Given the description of an element on the screen output the (x, y) to click on. 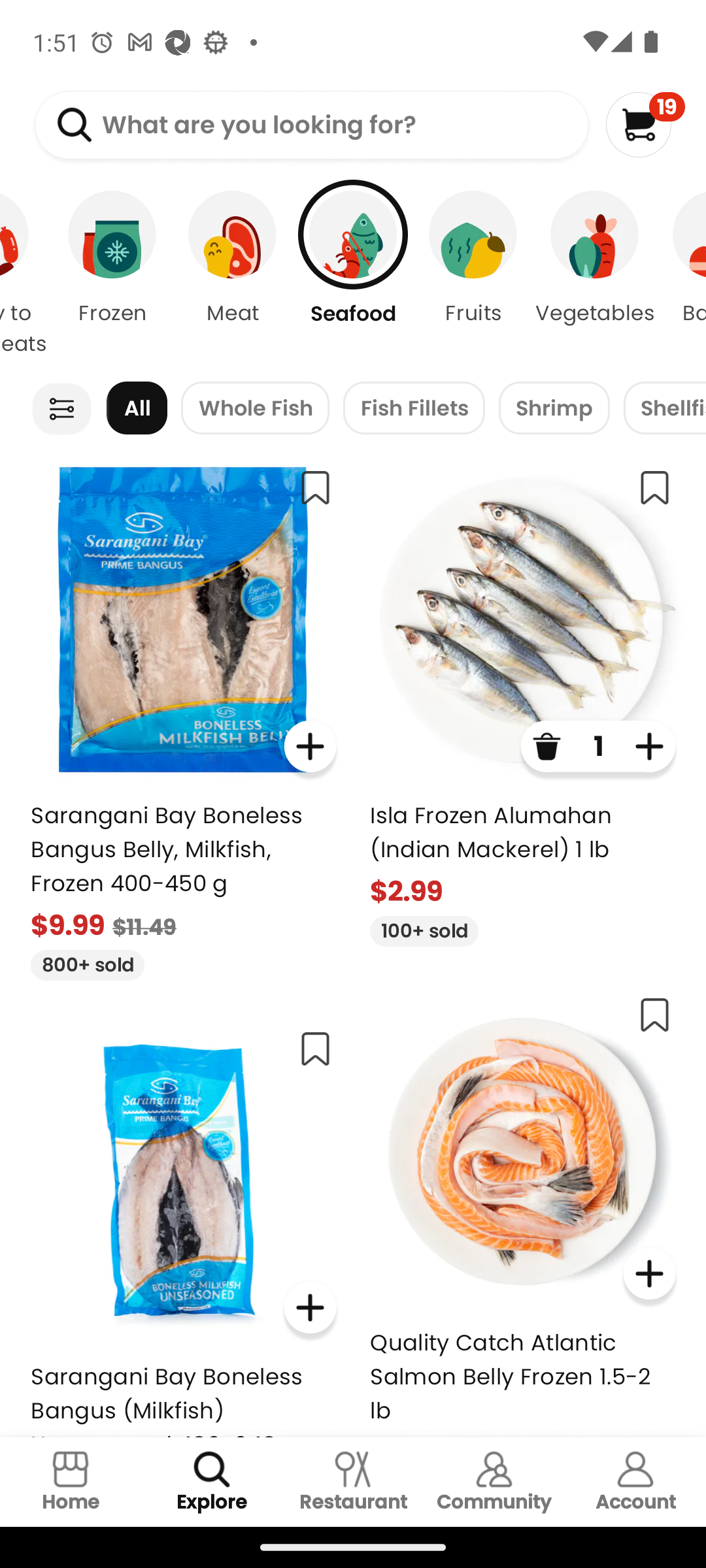
What are you looking for? (311, 124)
19 (644, 124)
Frozen (112, 274)
Meat (232, 274)
Seafood (352, 274)
Fruits (473, 274)
Vegetables (595, 274)
All (136, 407)
Whole Fish (254, 407)
Fish Fillets (414, 407)
Shrimp (553, 407)
Shellfish (664, 407)
Home (70, 1482)
Explore (211, 1482)
Restaurant (352, 1482)
Community (493, 1482)
Account (635, 1482)
